Given the description of an element on the screen output the (x, y) to click on. 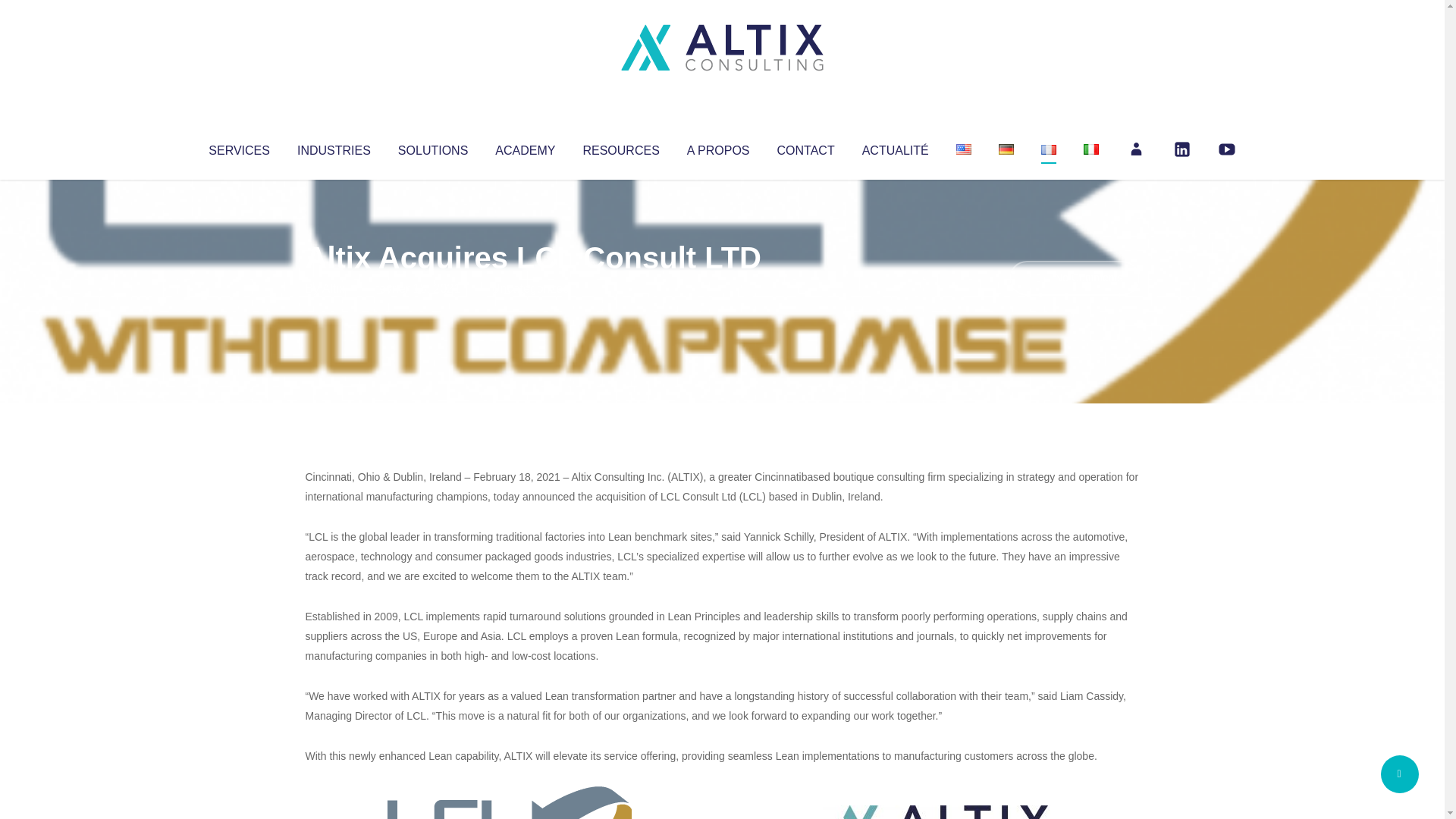
Altix (333, 287)
ACADEMY (524, 146)
SERVICES (238, 146)
No Comments (1073, 278)
Articles par Altix (333, 287)
A PROPOS (718, 146)
INDUSTRIES (334, 146)
Uncategorized (530, 287)
RESOURCES (620, 146)
SOLUTIONS (432, 146)
